Given the description of an element on the screen output the (x, y) to click on. 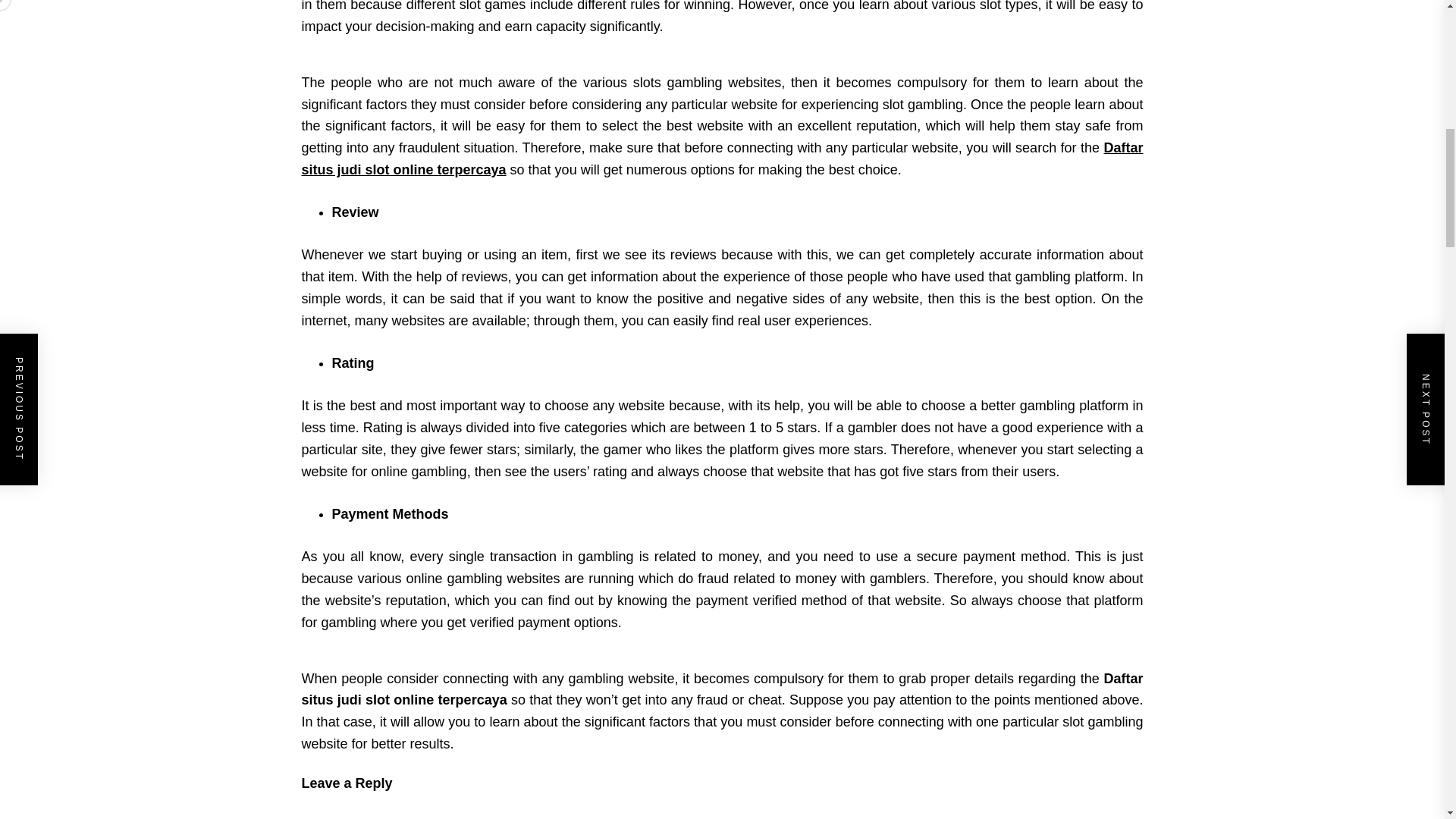
Daftar situs judi slot online terpercaya (721, 158)
